Given the description of an element on the screen output the (x, y) to click on. 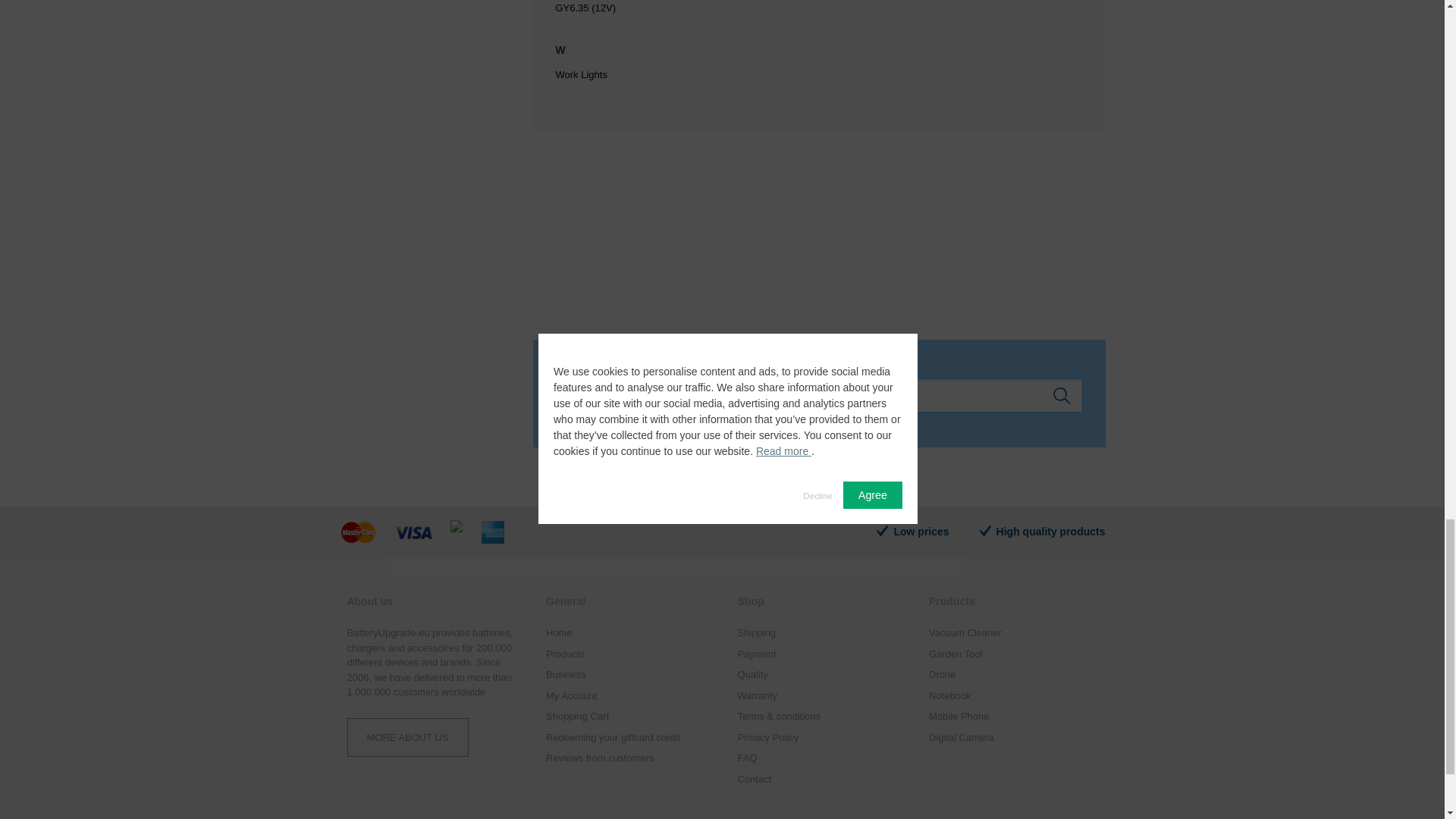
Garden Tool (1012, 654)
Notebook (1012, 695)
Drone (1012, 674)
Vacuum Cleaner (1012, 632)
